Given the description of an element on the screen output the (x, y) to click on. 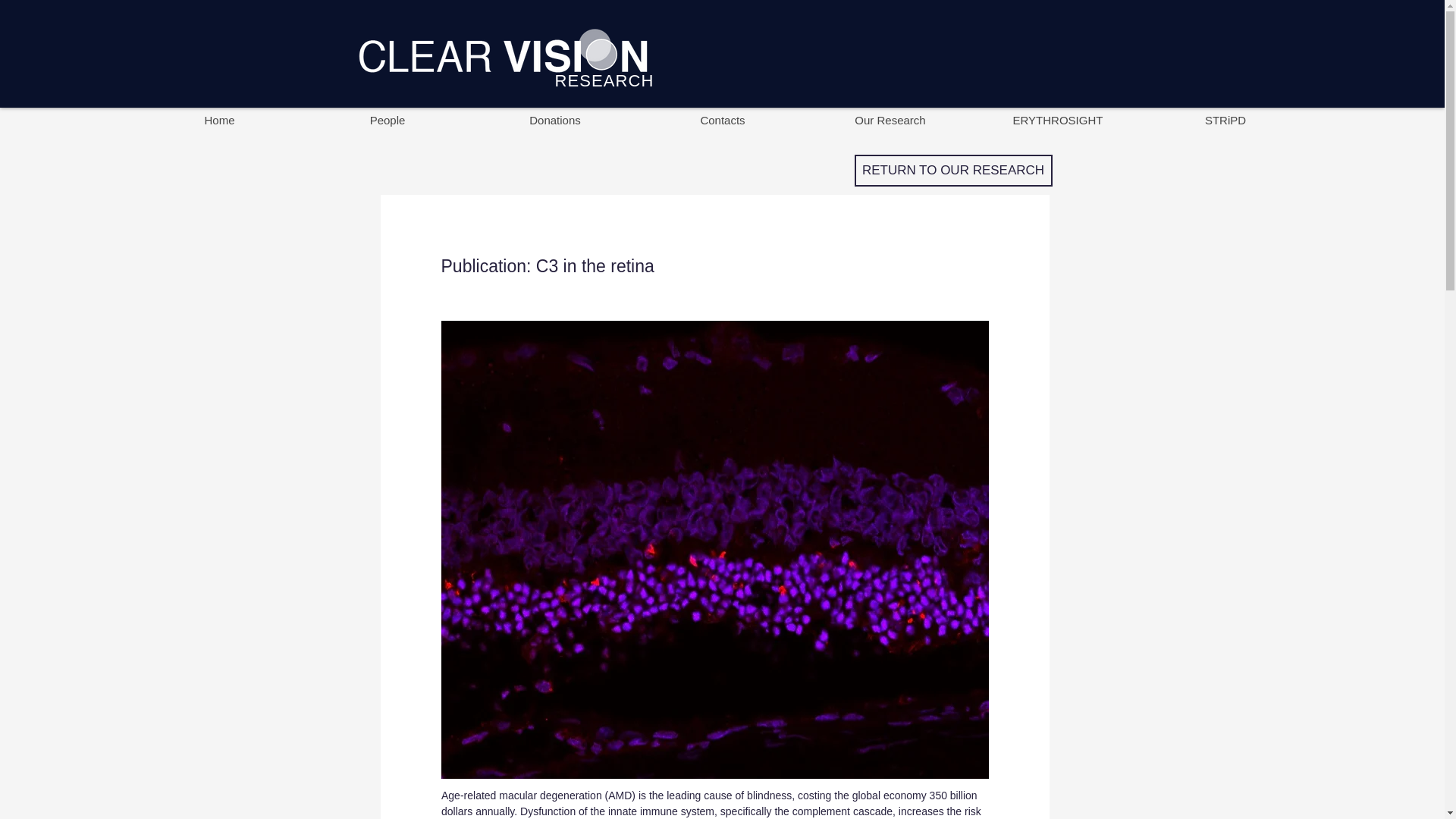
People (386, 120)
STRiPD (1224, 120)
ERYTHROSIGHT (1057, 120)
Home (218, 120)
RETURN TO OUR RESEARCH (952, 170)
Our Research (890, 120)
Donations (554, 120)
Contacts (722, 120)
